Given the description of an element on the screen output the (x, y) to click on. 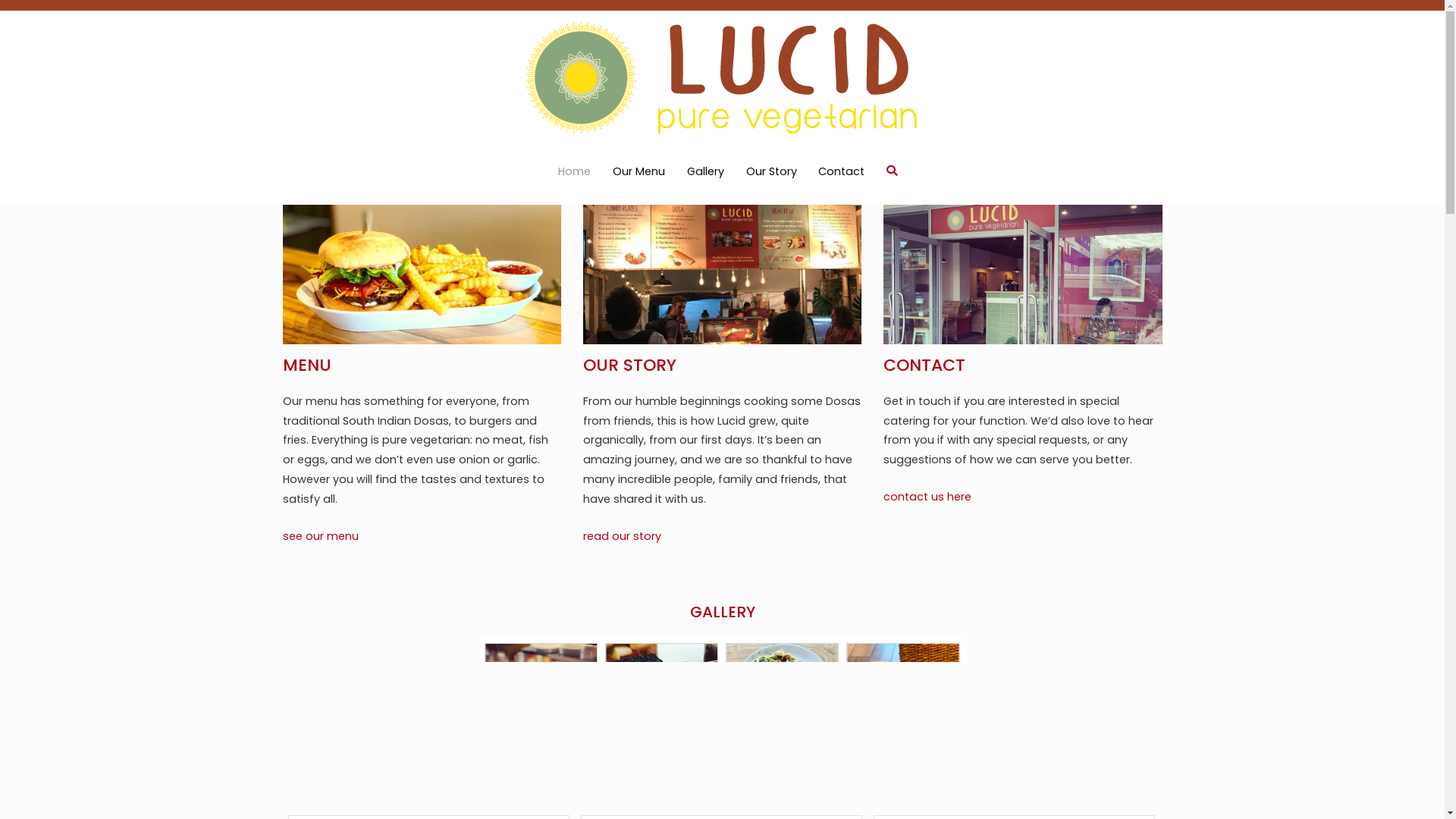
MENU Element type: text (306, 364)
Our Story Element type: text (771, 172)
Gallery Element type: text (705, 172)
OUR STORY Element type: text (629, 364)
read our story Element type: text (622, 535)
Search Element type: text (29, 15)
Home Element type: text (574, 172)
GALLERY Element type: text (722, 611)
see our menu Element type: text (319, 535)
Our Menu Element type: text (638, 172)
contact us here Element type: text (927, 496)
Contact Element type: text (841, 172)
CONTACT Element type: text (924, 364)
Lucid Pure Vegetarian Element type: text (791, 161)
